Given the description of an element on the screen output the (x, y) to click on. 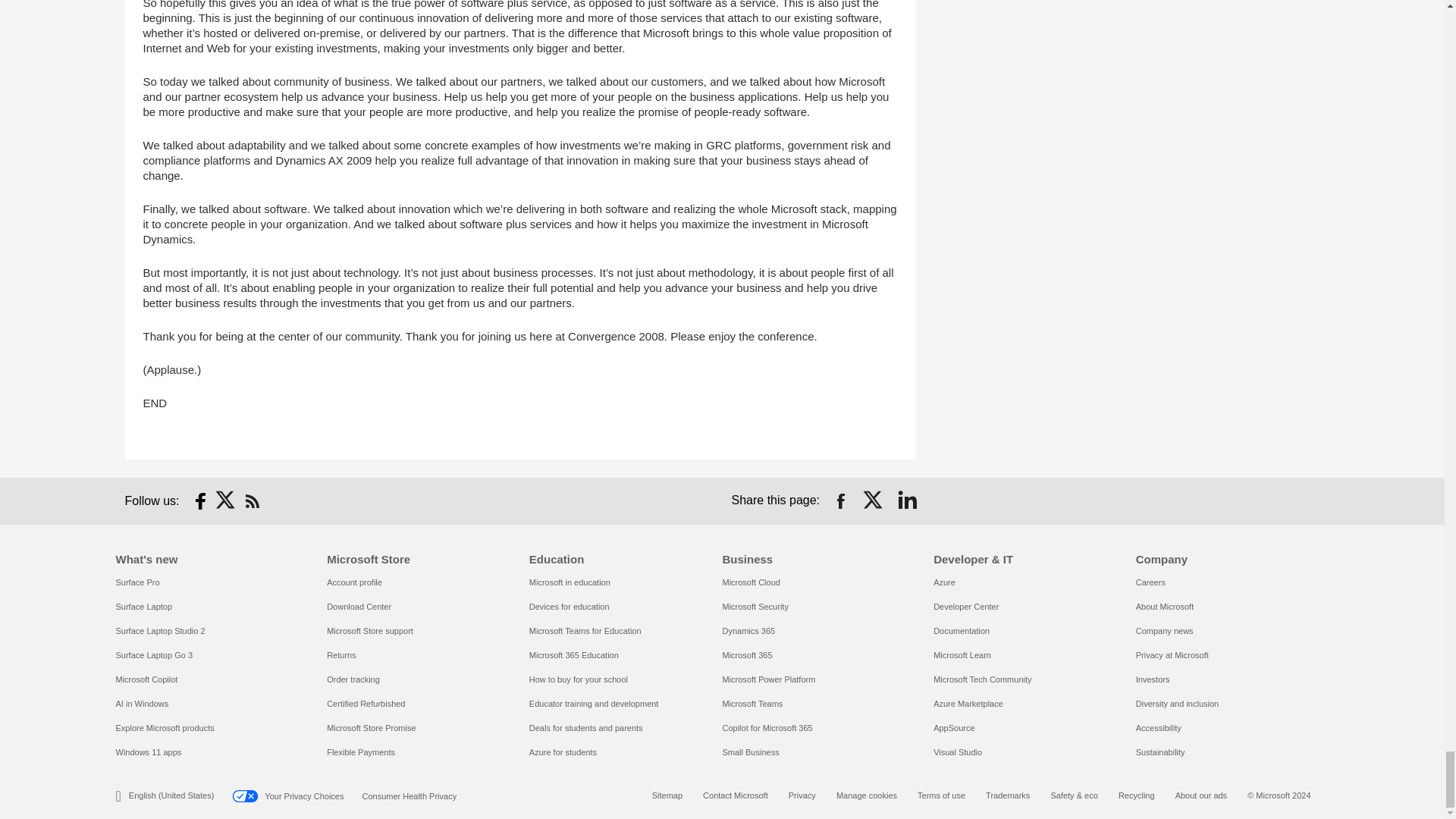
Share on Facebook (840, 500)
Follow on Twitter (226, 500)
Share on Twitter (873, 500)
Follow on Facebook (200, 500)
Share on LinkedIn (907, 500)
RSS Subscription (252, 500)
